Given the description of an element on the screen output the (x, y) to click on. 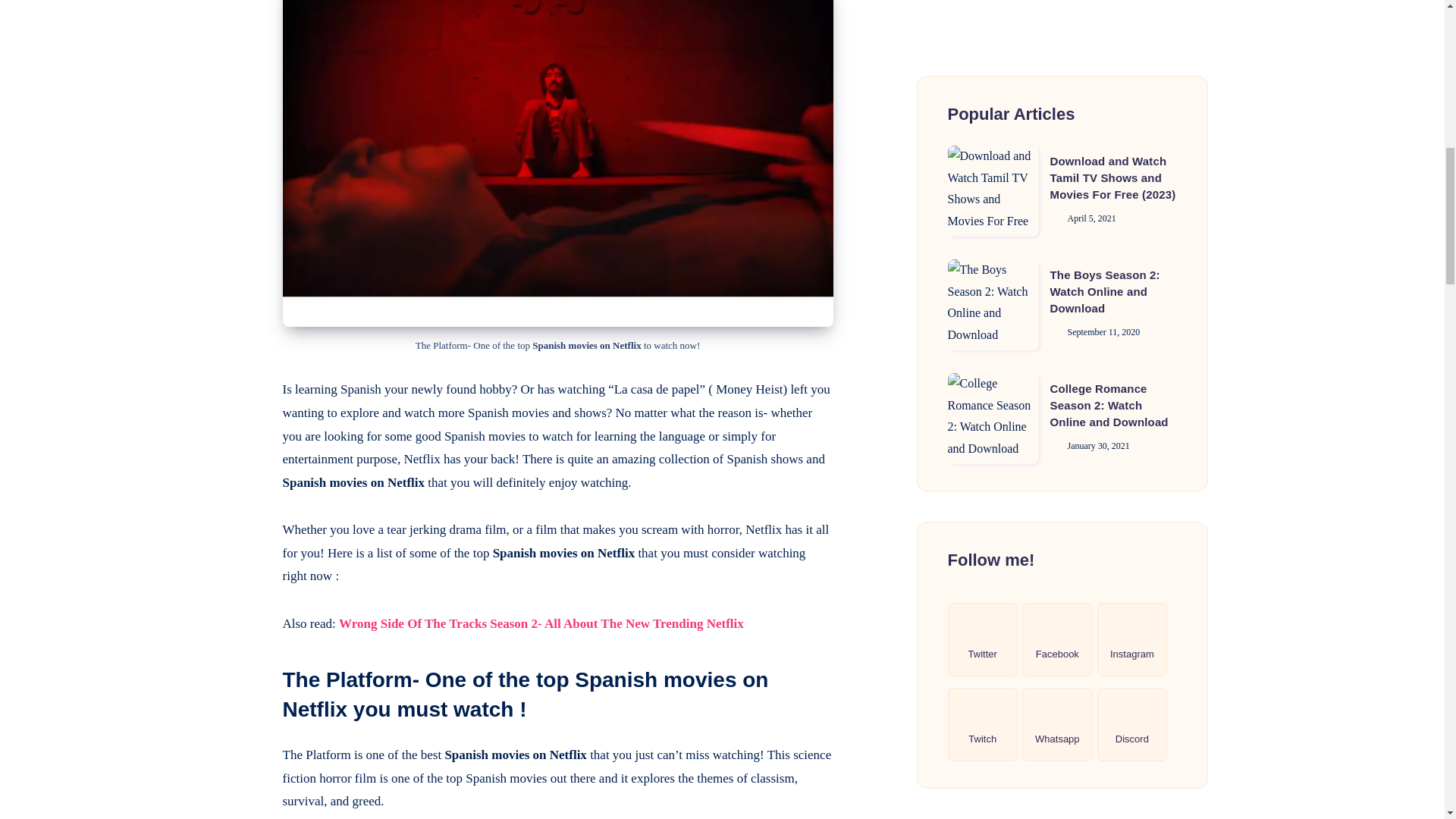
Share on Pinterest (244, 3)
Share on Whatsapp (244, 60)
Share on Telegram (244, 25)
